Given the description of an element on the screen output the (x, y) to click on. 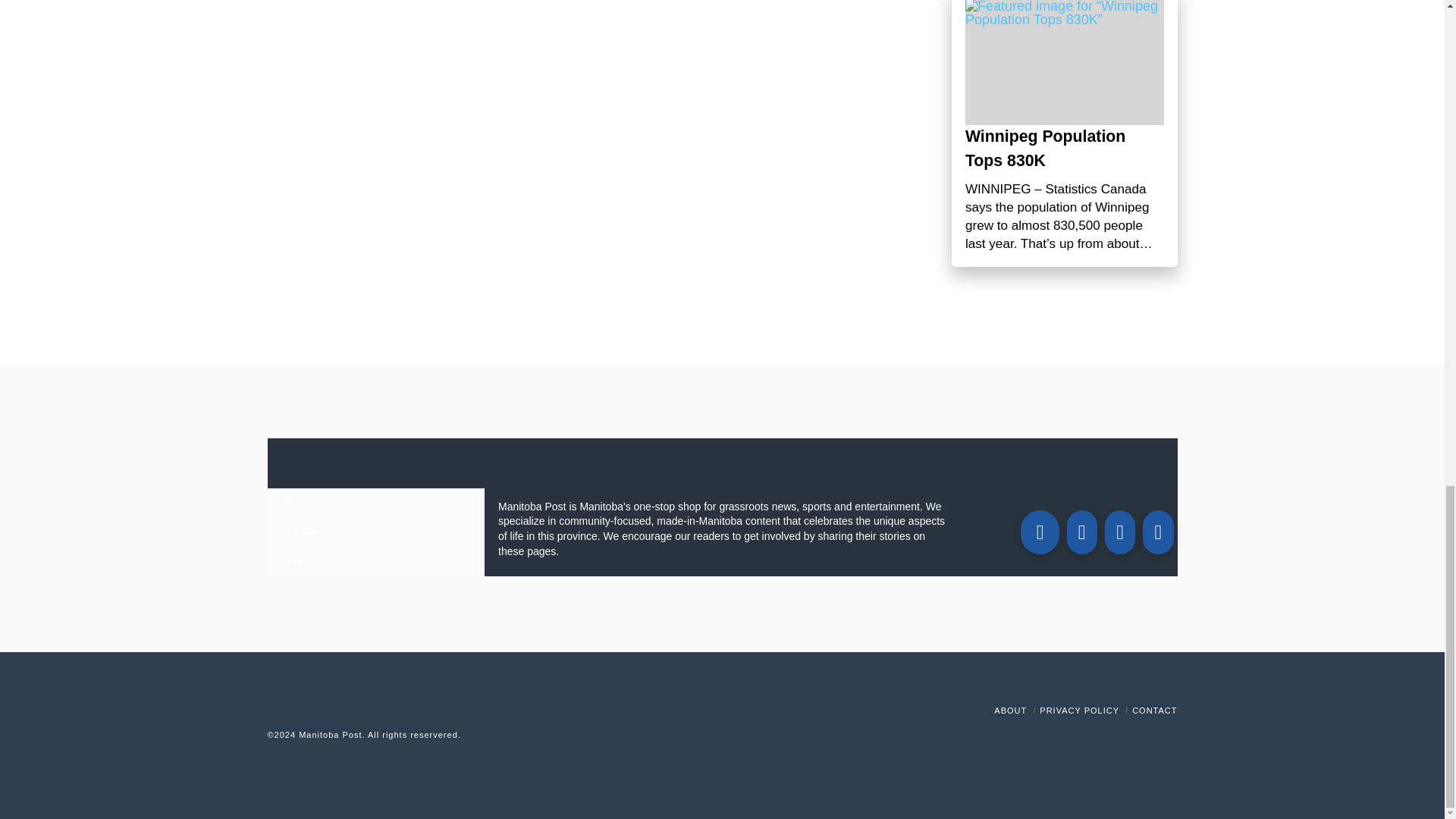
Weather (375, 532)
FooterWhite (497, 734)
Sports (375, 561)
News (375, 502)
